Given the description of an element on the screen output the (x, y) to click on. 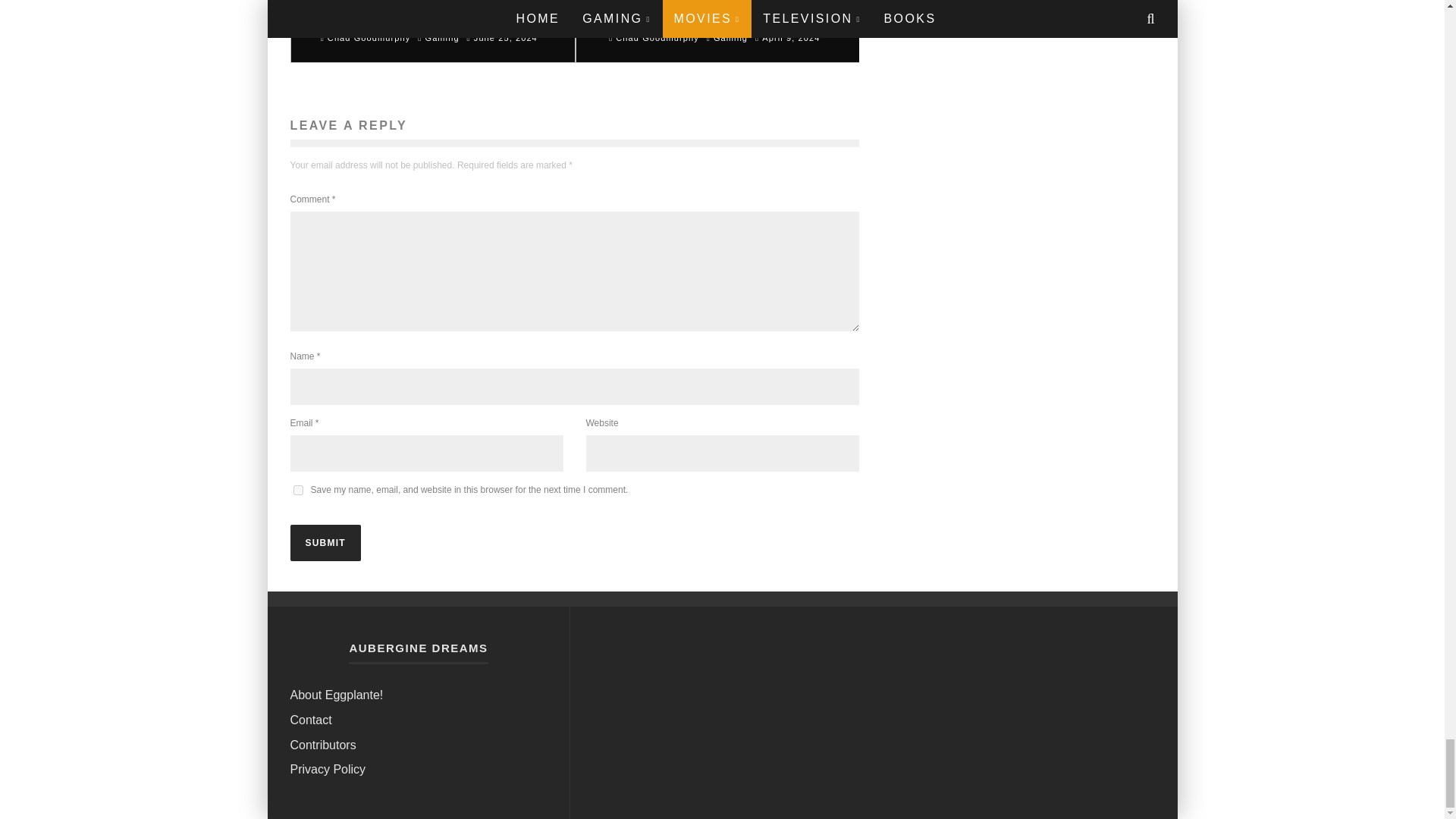
yes (297, 490)
Submit (324, 542)
